Given the description of an element on the screen output the (x, y) to click on. 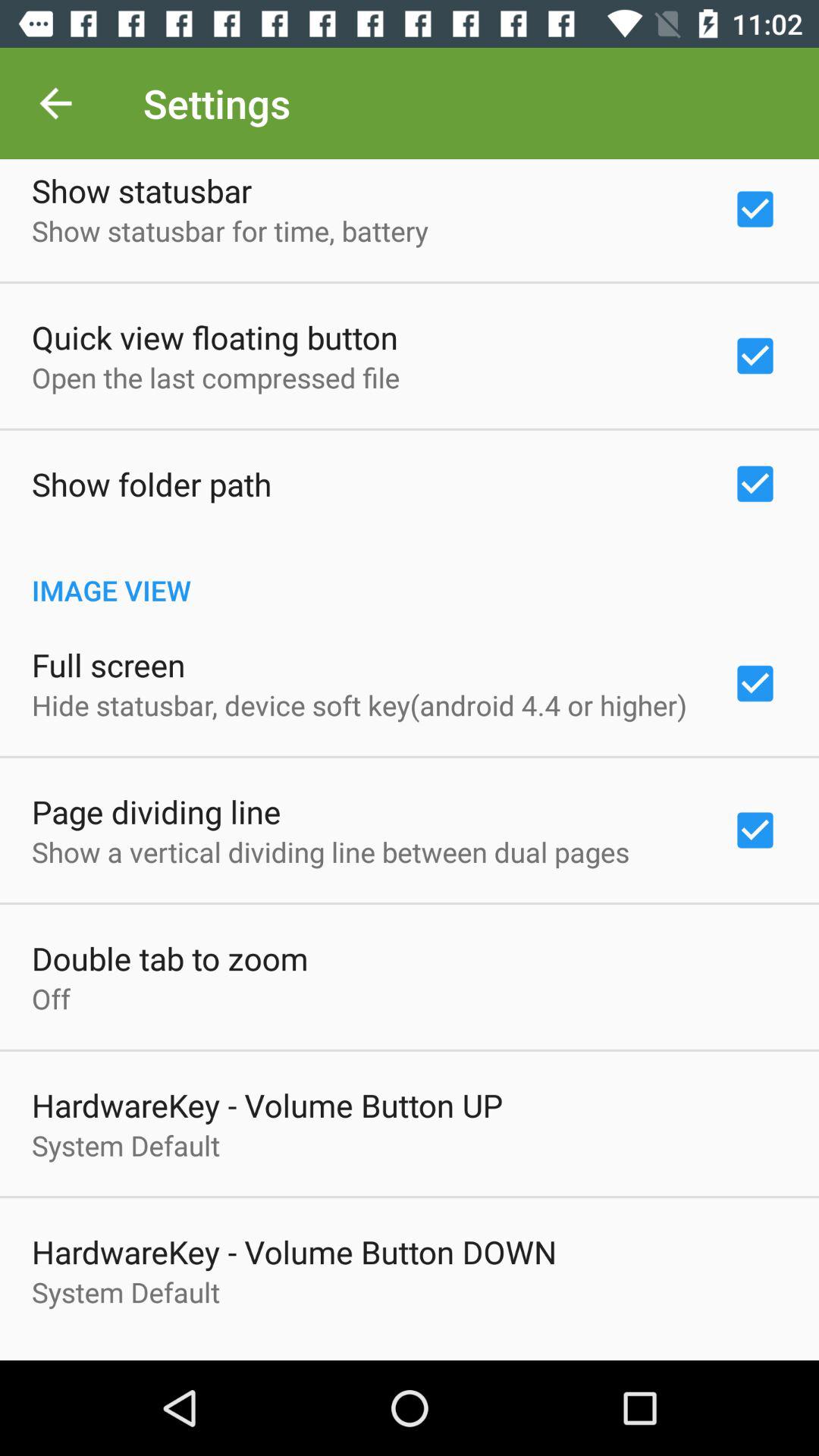
launch item above image view item (151, 483)
